Given the description of an element on the screen output the (x, y) to click on. 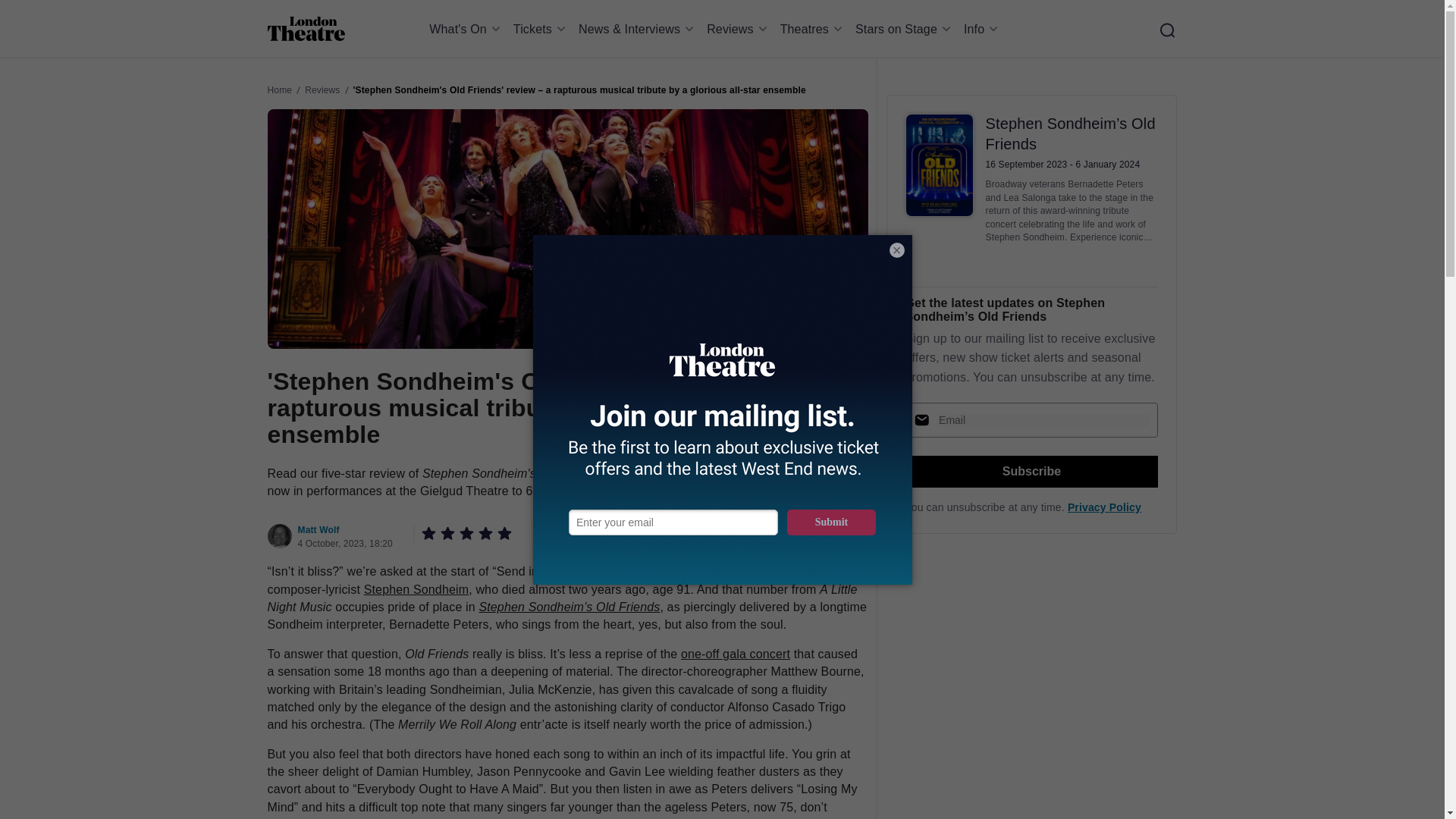
What's On (467, 28)
Reviews (739, 28)
Home (305, 28)
Tickets (541, 28)
